Given the description of an element on the screen output the (x, y) to click on. 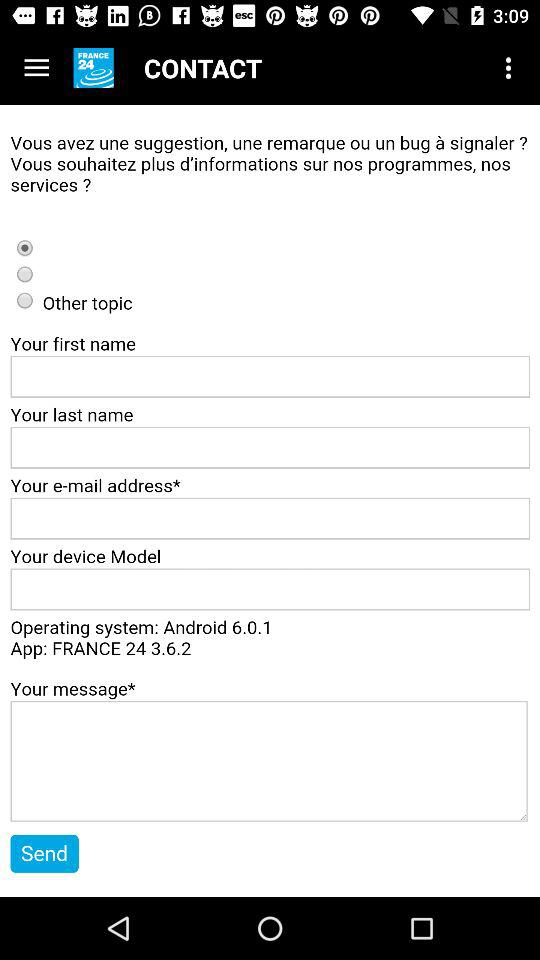
write a suggestion (270, 501)
